Given the description of an element on the screen output the (x, y) to click on. 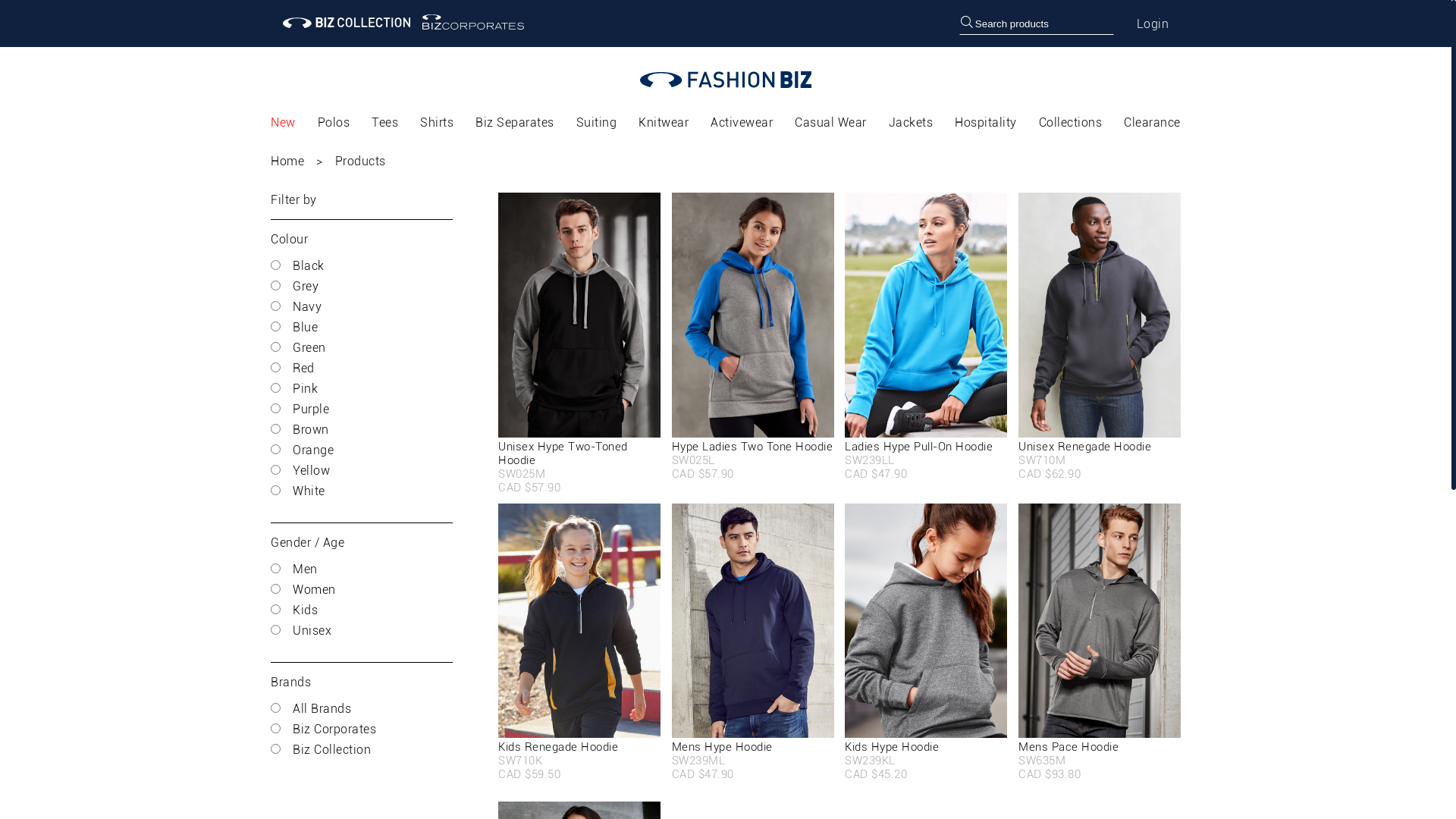
New Element type: text (282, 122)
Kids Hype Hoodie
SW239KL
CAD $45.20 Element type: text (925, 641)
Collections Element type: text (1070, 122)
Mens Hype Hoodie
SW239ML
CAD $47.90 Element type: text (752, 641)
Ladies Hype Pull-On Hoodie
SW239LL
CAD $47.90 Element type: text (925, 336)
Clearance Element type: text (1151, 122)
Casual Wear Element type: text (830, 122)
Hospitality Element type: text (985, 122)
Kids Renegade Hoodie
SW710K
CAD $59.50 Element type: text (579, 641)
Activewear Element type: text (741, 122)
Suiting Element type: text (596, 122)
Polos Element type: text (333, 122)
Mens Pace Hoodie
SW635M
CAD $93.80 Element type: text (1099, 641)
Home Element type: text (296, 160)
Biz Separates Element type: text (514, 122)
Tees Element type: text (384, 122)
Shirts Element type: text (436, 122)
Jackets Element type: text (910, 122)
Unisex Renegade Hoodie
SW710M
CAD $62.90 Element type: text (1099, 336)
Hype Ladies Two Tone Hoodie
SW025L
CAD $57.90 Element type: text (752, 336)
Knitwear Element type: text (663, 122)
Unisex Hype Two-Toned Hoodie
SW025M
CAD $57.90 Element type: text (579, 336)
Login Element type: text (1151, 23)
